Given the description of an element on the screen output the (x, y) to click on. 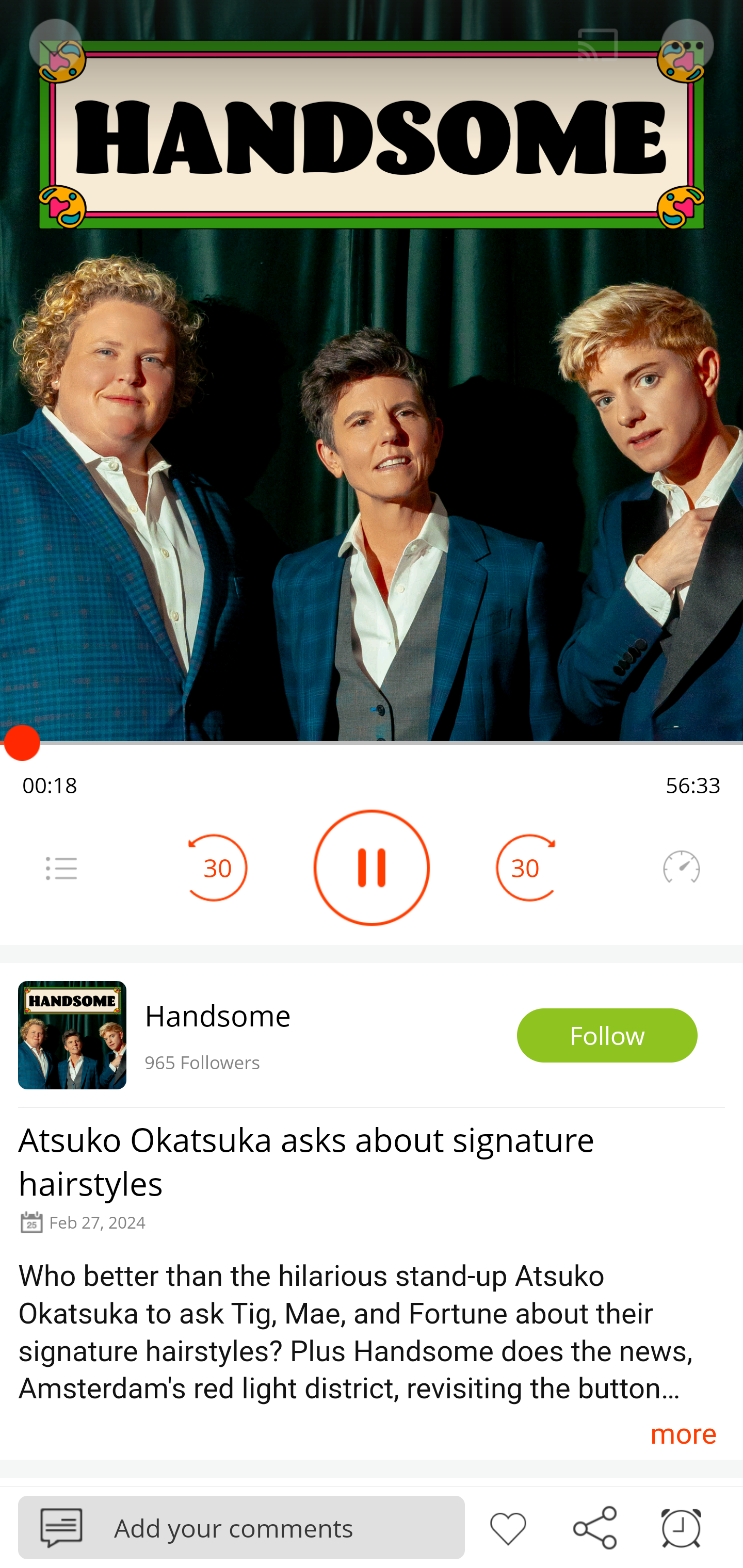
Back (53, 45)
Cast. Disconnected (597, 45)
Menu (688, 45)
Play (371, 867)
30 Seek Backward (217, 867)
30 Seek Forward (525, 867)
Menu (60, 867)
Speedometer (681, 867)
Handsome 965 Followers Follow (371, 1034)
Follow (607, 1035)
more (682, 1432)
Like (508, 1526)
Share (594, 1526)
Sleep timer (681, 1526)
Podbean Add your comments (241, 1526)
